Given the description of an element on the screen output the (x, y) to click on. 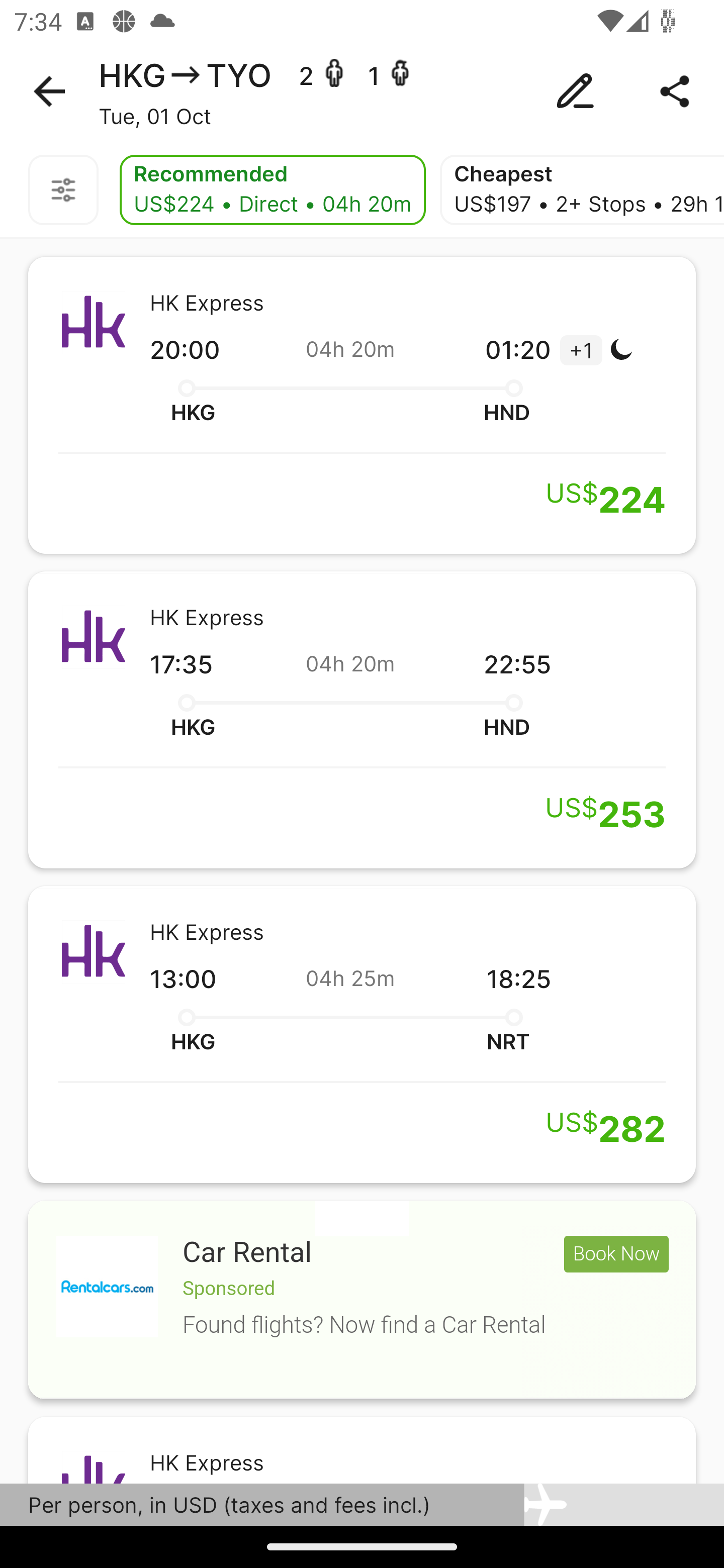
HKG TYO   2 -   1 - Tue, 01 Oct (361, 91)
Recommended  US$224 • Direct • 04h 20m (272, 190)
Cheapest US$197 • 2+ Stops • 29h 10m (582, 190)
HK Express 20:00 04h 20m 01:20 HKG HND +1 (361, 405)
HK Express 17:35 04h 20m 22:55 HKG HND (361, 719)
HK Express 13:00 04h 25m 18:25 HKG NRT (361, 1033)
